Given the description of an element on the screen output the (x, y) to click on. 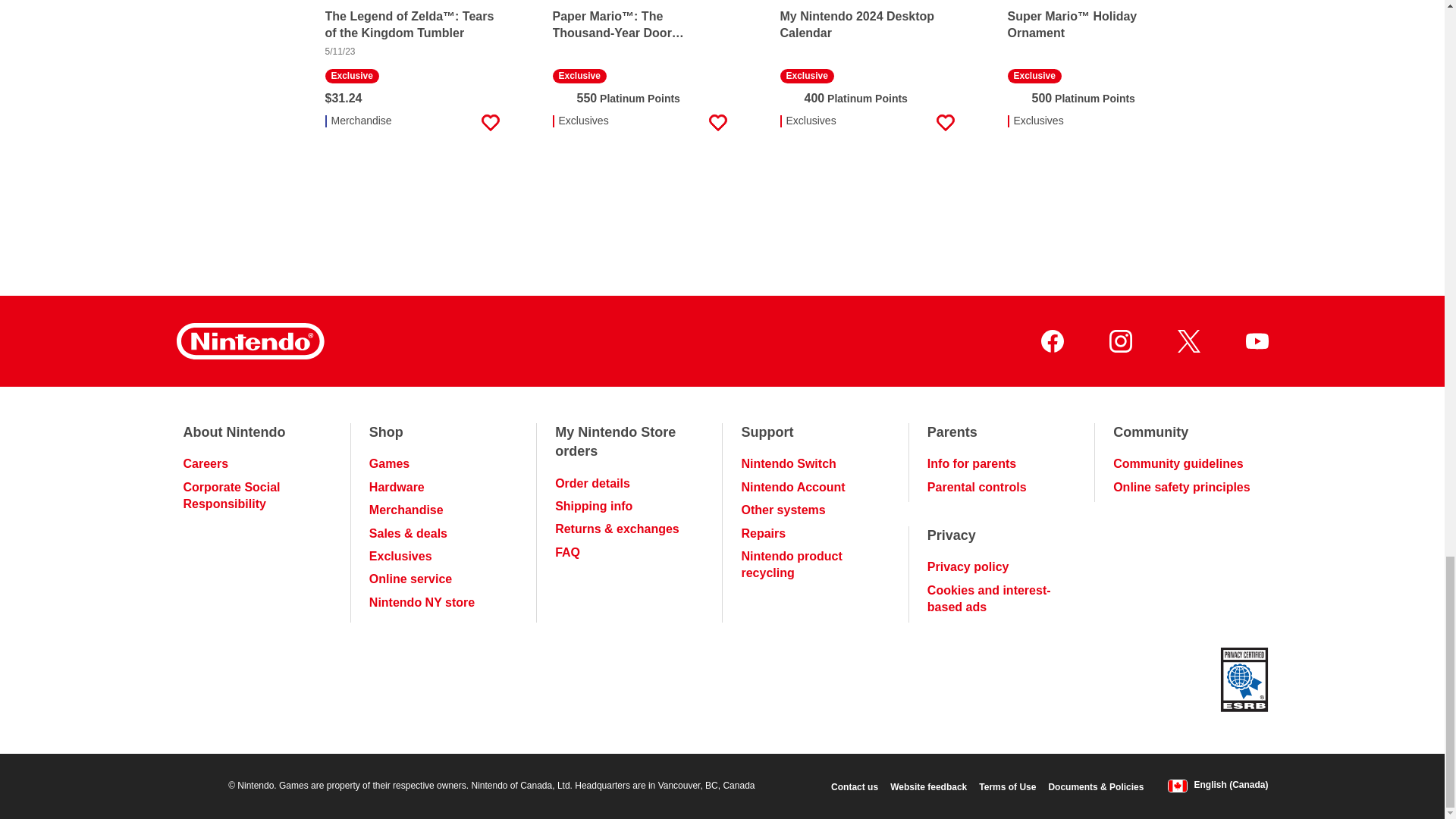
Add to Wish List (944, 122)
Add to Wish List (716, 122)
Add to Wish List (489, 122)
Add to Wish List (1172, 122)
